Given the description of an element on the screen output the (x, y) to click on. 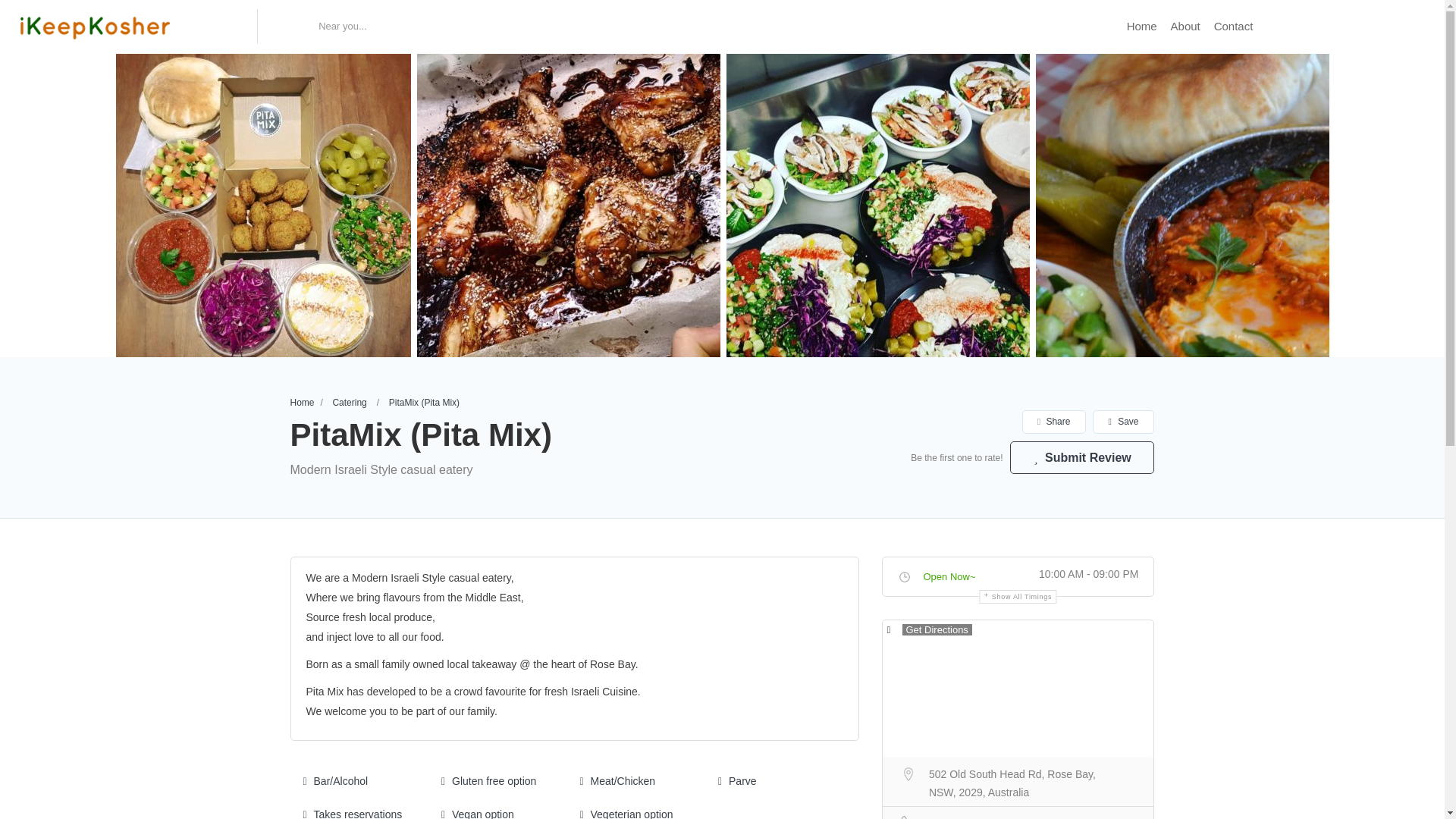
Sign In (1306, 27)
About (1184, 25)
Home (301, 402)
Add Listing (1377, 25)
Contact (1233, 25)
Save (1122, 422)
Parve (737, 780)
Gluten free option (488, 780)
Share (1054, 422)
Catering (348, 402)
Submit Review (1082, 457)
Submit (413, 502)
Home (1141, 25)
